Given the description of an element on the screen output the (x, y) to click on. 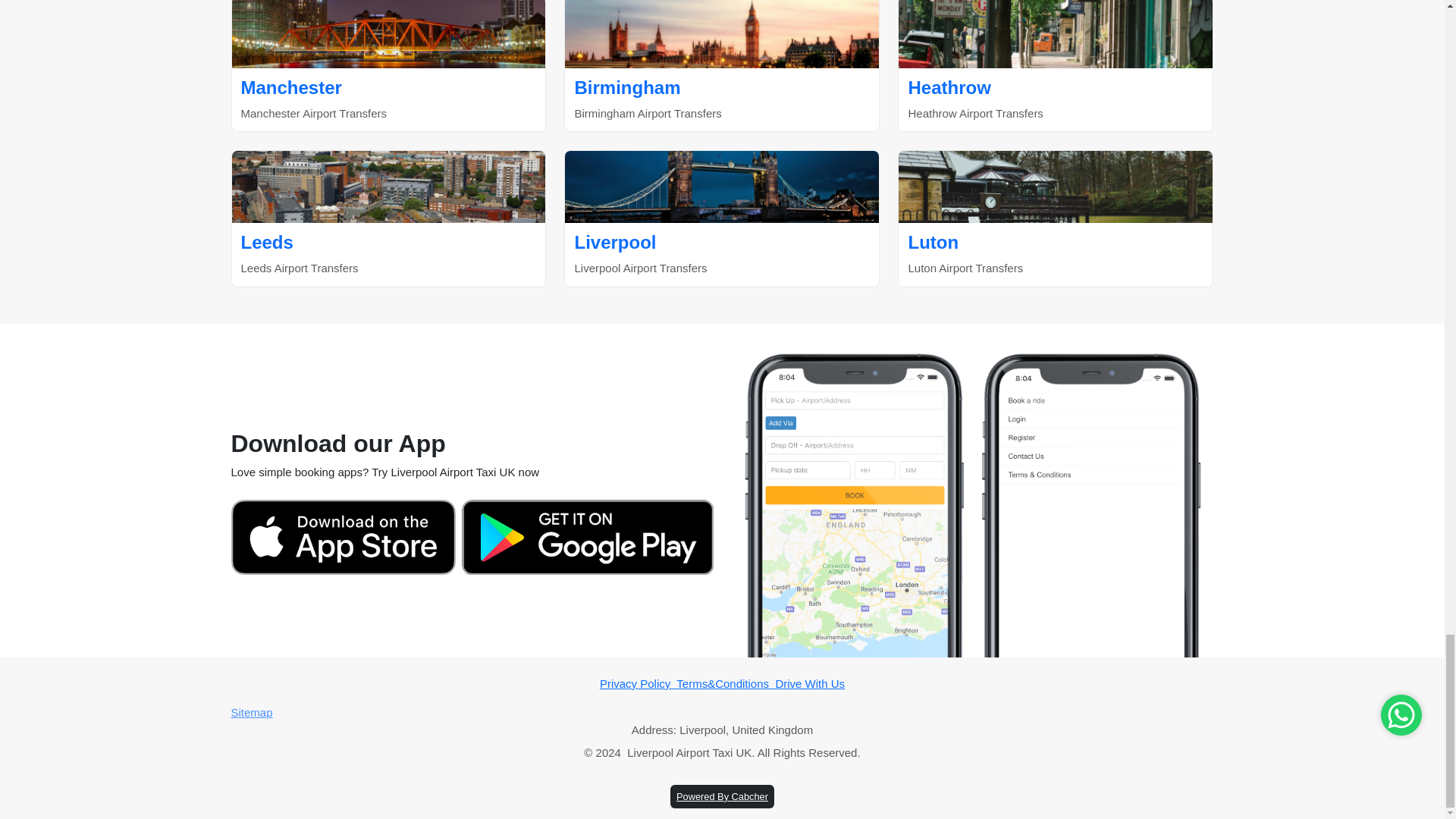
Sitemap (722, 712)
Drive With Us (721, 65)
Powered By Cabcher (809, 683)
App Store (721, 796)
Google Play Store (1055, 217)
Privacy Policy   (342, 536)
Download app (388, 65)
